Given the description of an element on the screen output the (x, y) to click on. 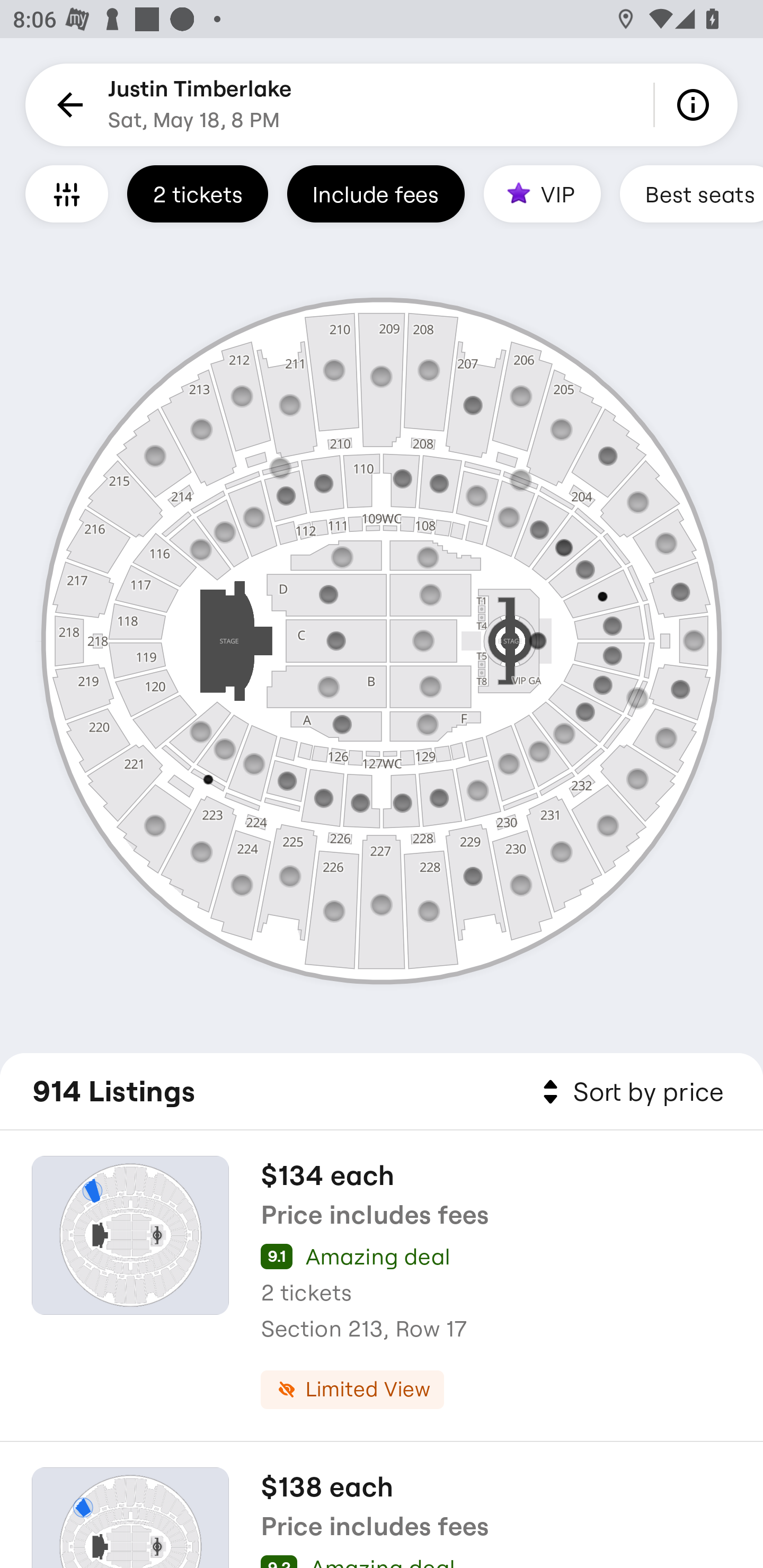
Back Justin Timberlake Sat, May 18, 8 PM Info (381, 104)
Back (66, 104)
Justin Timberlake Sat, May 18, 8 PM (200, 104)
Info (695, 104)
Filters and Accessible Seating (66, 193)
2 tickets (197, 193)
Include fees (375, 193)
VIP (542, 193)
Best seats (691, 193)
Sort by price (629, 1091)
$138 each Price includes fees 9.2 Amazing deal (381, 1505)
